Given the description of an element on the screen output the (x, y) to click on. 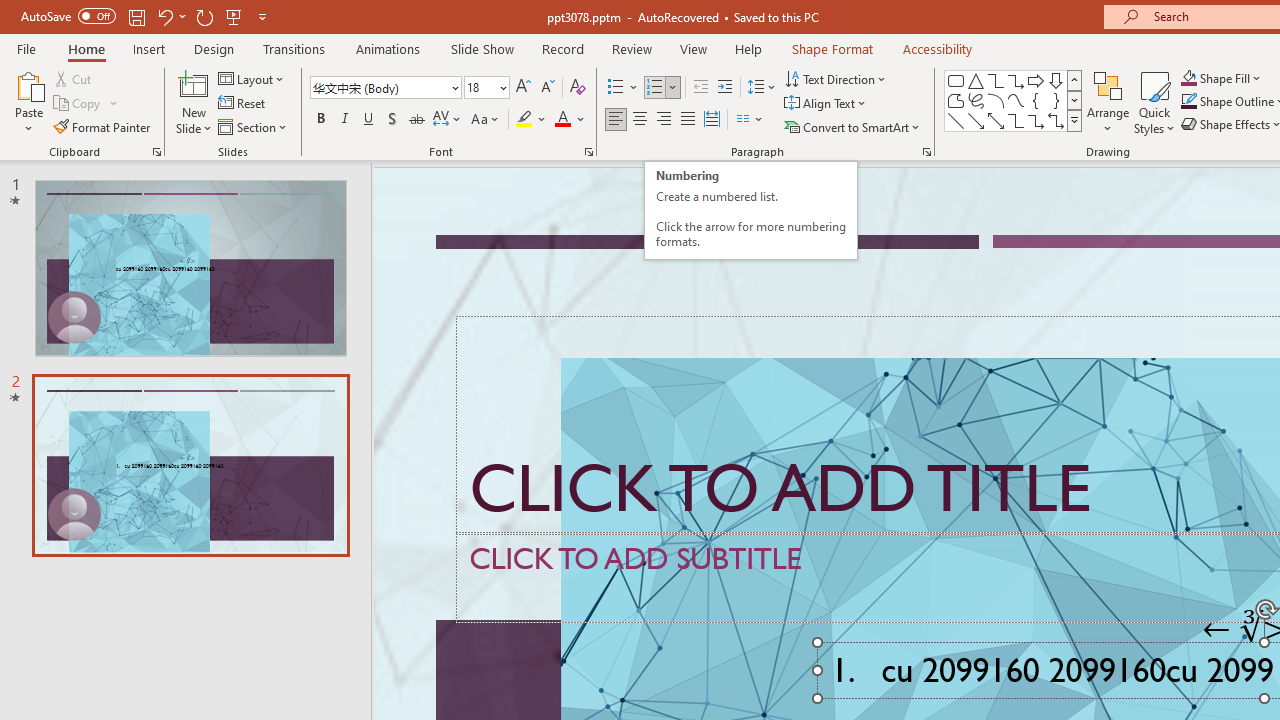
Align Right (663, 119)
Clear Formatting (577, 87)
Strikethrough (416, 119)
Justify (687, 119)
Distributed (712, 119)
Rectangle: Rounded Corners (955, 80)
Shape Fill Dark Green, Accent 2 (1188, 78)
